Given the description of an element on the screen output the (x, y) to click on. 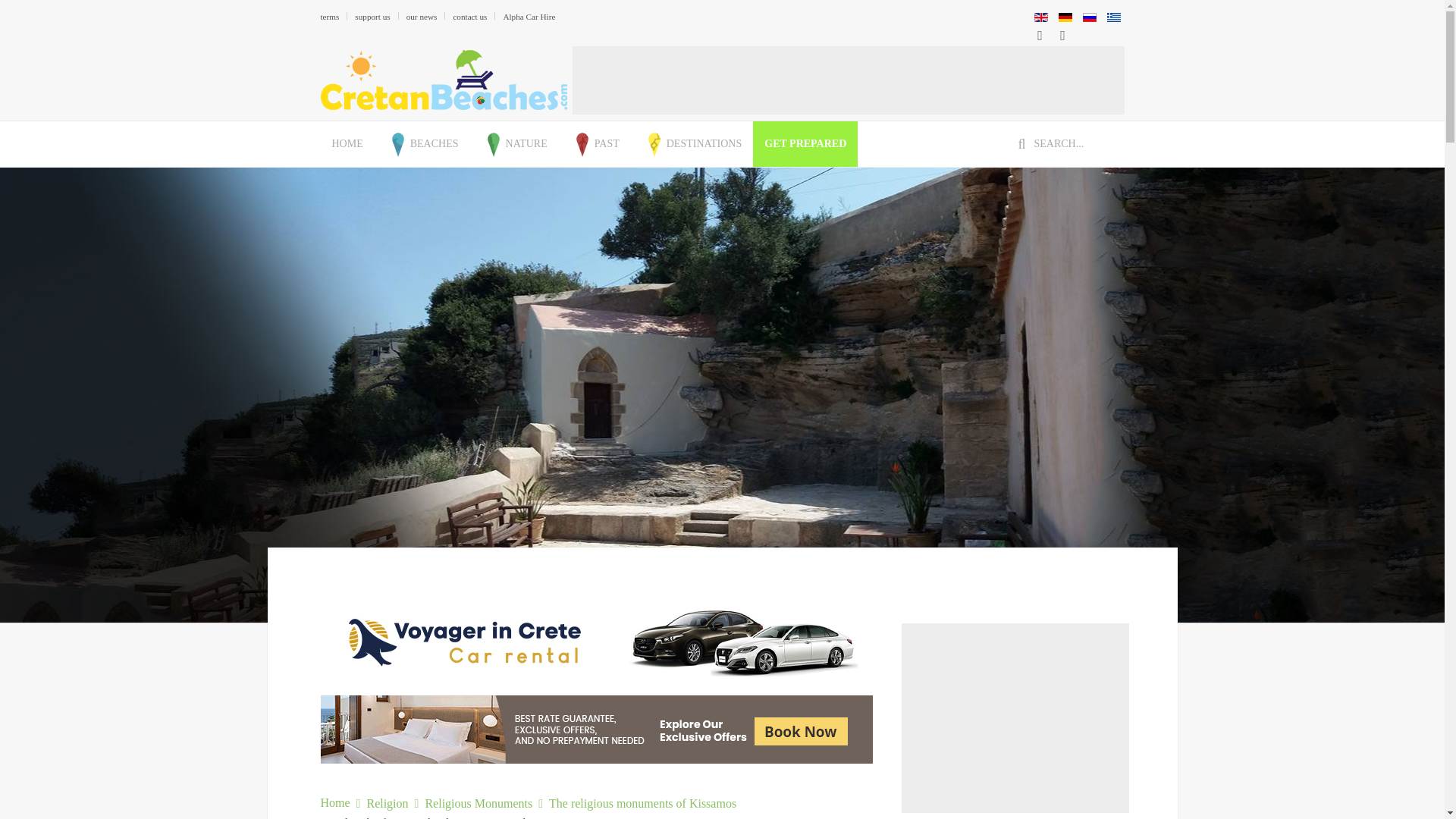
support us (372, 16)
Deutsch (1064, 17)
HOME (347, 144)
BEACHES (422, 144)
Alpha Car Hire (528, 16)
terms (329, 16)
NATURE (514, 144)
our news (422, 16)
contact us (469, 16)
